Given the description of an element on the screen output the (x, y) to click on. 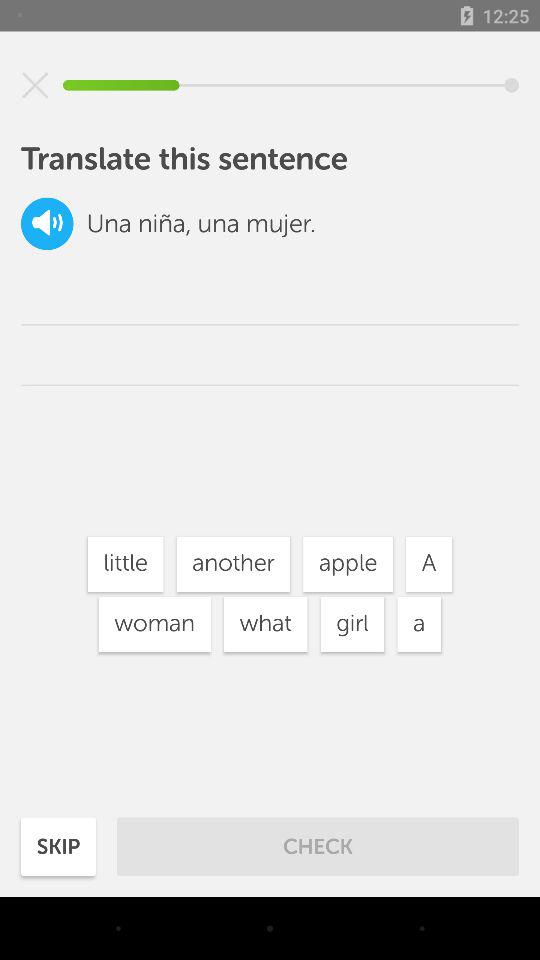
stop playback (35, 85)
